Given the description of an element on the screen output the (x, y) to click on. 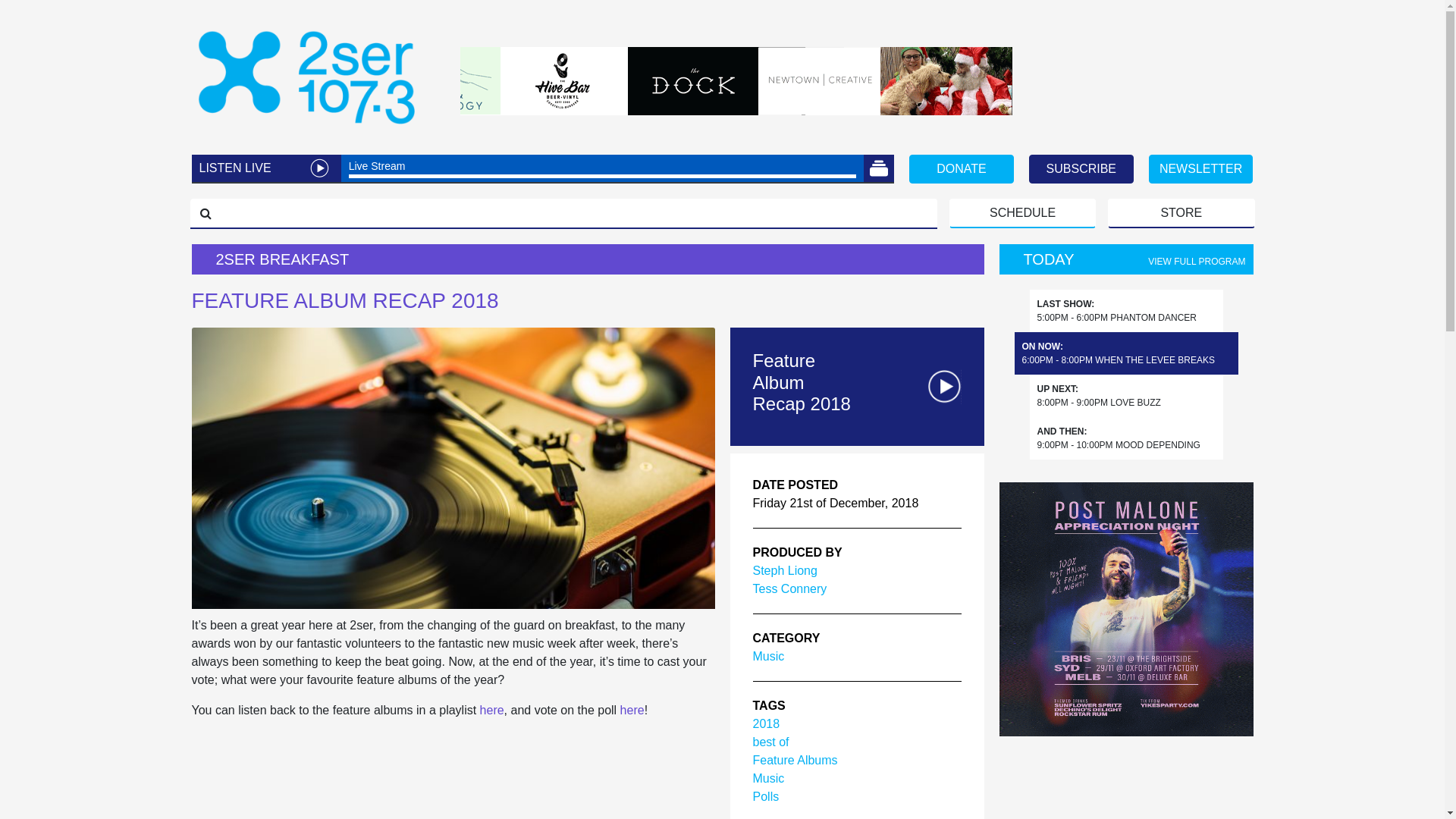
STORE Element type: text (1180, 213)
ON NOW:
6:00PM - 8:00PM WHEN THE LEVEE BREAKS Element type: text (1118, 353)
Feature Albums Element type: text (794, 759)
2018 Element type: text (765, 723)
Music Element type: text (768, 655)
VIEW FULL PROGRAM Element type: text (1196, 261)
Tess Connery Element type: text (789, 588)
Steph Liong Element type: text (784, 570)
here Element type: text (632, 709)
LAST SHOW:
5:00PM - 6:00PM PHANTOM DANCER Element type: text (1117, 310)
UP NEXT:
8:00PM - 9:00PM LOVE BUZZ Element type: text (1099, 395)
Polls Element type: text (765, 796)
SCHEDULE Element type: text (1022, 213)
2SER BREAKFAST Element type: text (587, 259)
best of Element type: text (770, 741)
Music Element type: text (768, 777)
here Element type: text (492, 709)
DONATE Element type: text (961, 168)
Feature Album Recap 2018 Element type: text (804, 382)
NEWSLETTER Element type: text (1200, 168)
AND THEN:
9:00PM - 10:00PM MOOD DEPENDING Element type: text (1118, 438)
SUBSCRIBE Element type: text (1081, 168)
